Given the description of an element on the screen output the (x, y) to click on. 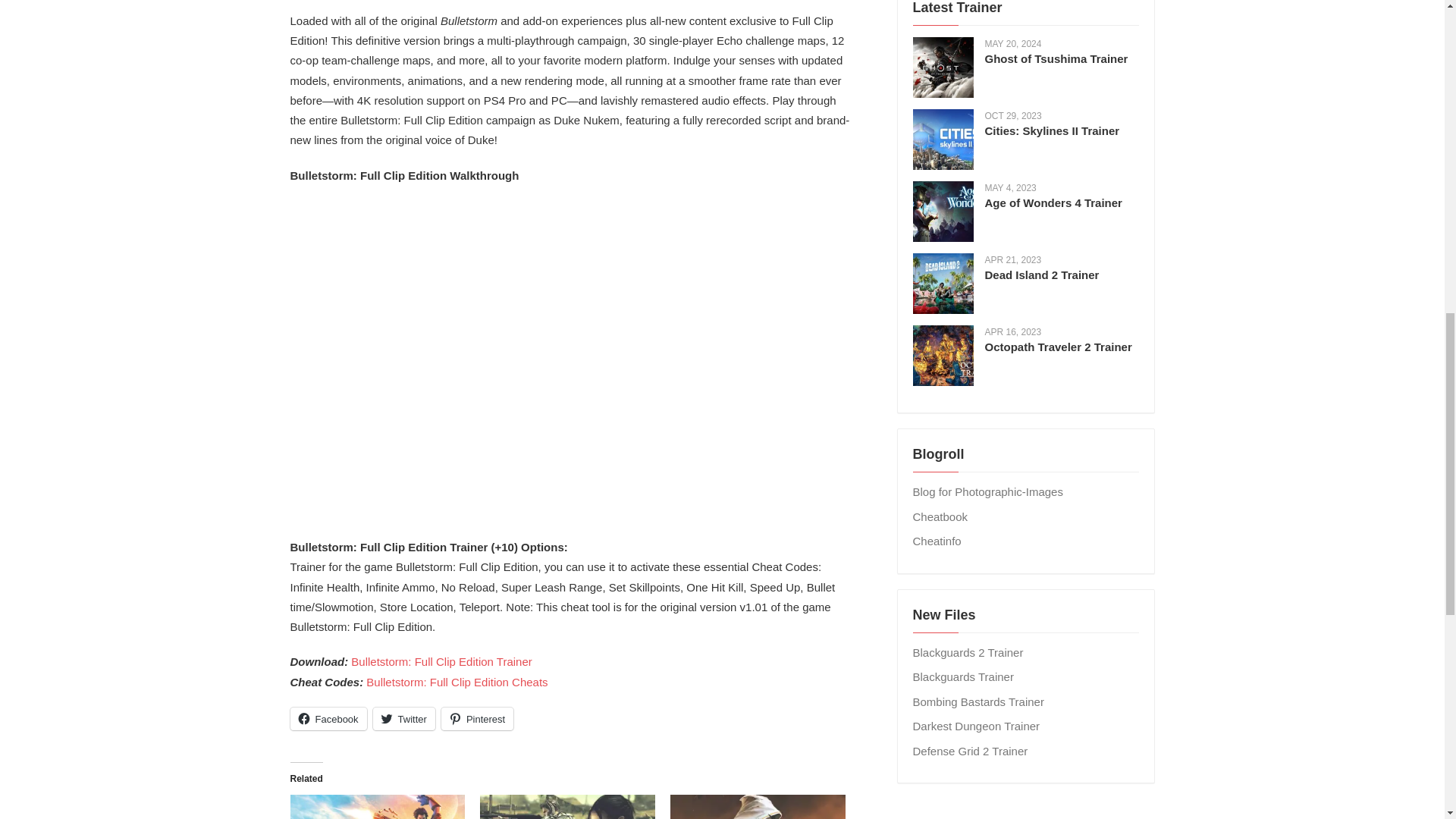
Facebook (327, 718)
Bulletstorm: Full Clip Edition Cheats (456, 681)
Bulletstorm Trainer (376, 806)
Bulletstorm: Full Clip Edition Trainer (440, 661)
Resident Evil 5: Gold Edition Trainer (567, 806)
Bulletstorm: Full Clip Edition Trainer (440, 661)
Click to share on Twitter (403, 718)
Trine Enchanted Edition Trainer (757, 806)
Click to share on Pinterest (477, 718)
Bulletstorm: Full Clip Edition Cheats (456, 681)
